Given the description of an element on the screen output the (x, y) to click on. 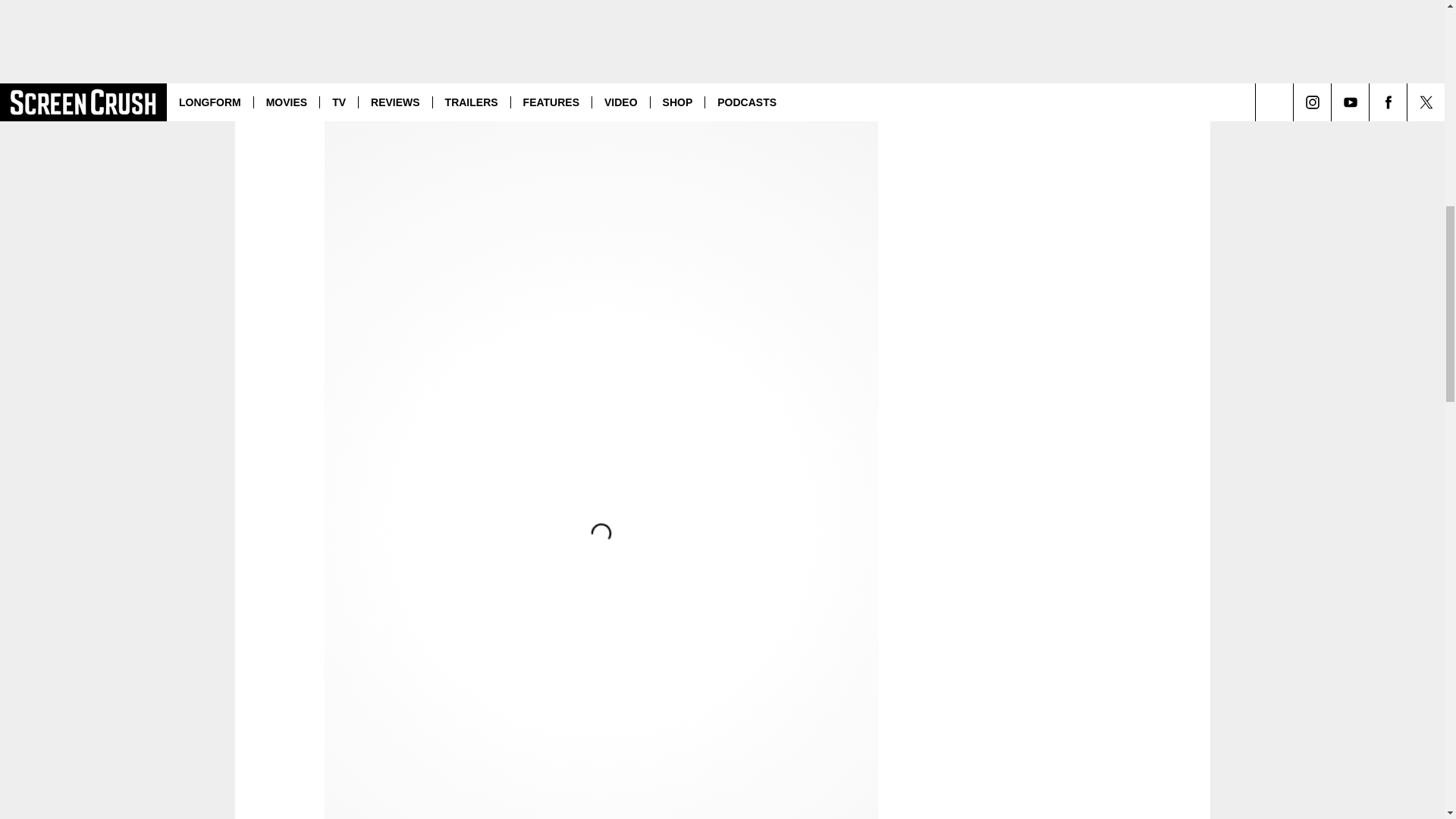
Jason Sudeikis (371, 88)
Mad Men (815, 40)
January Jones (369, 64)
Mary Steenburgen (478, 64)
